Given the description of an element on the screen output the (x, y) to click on. 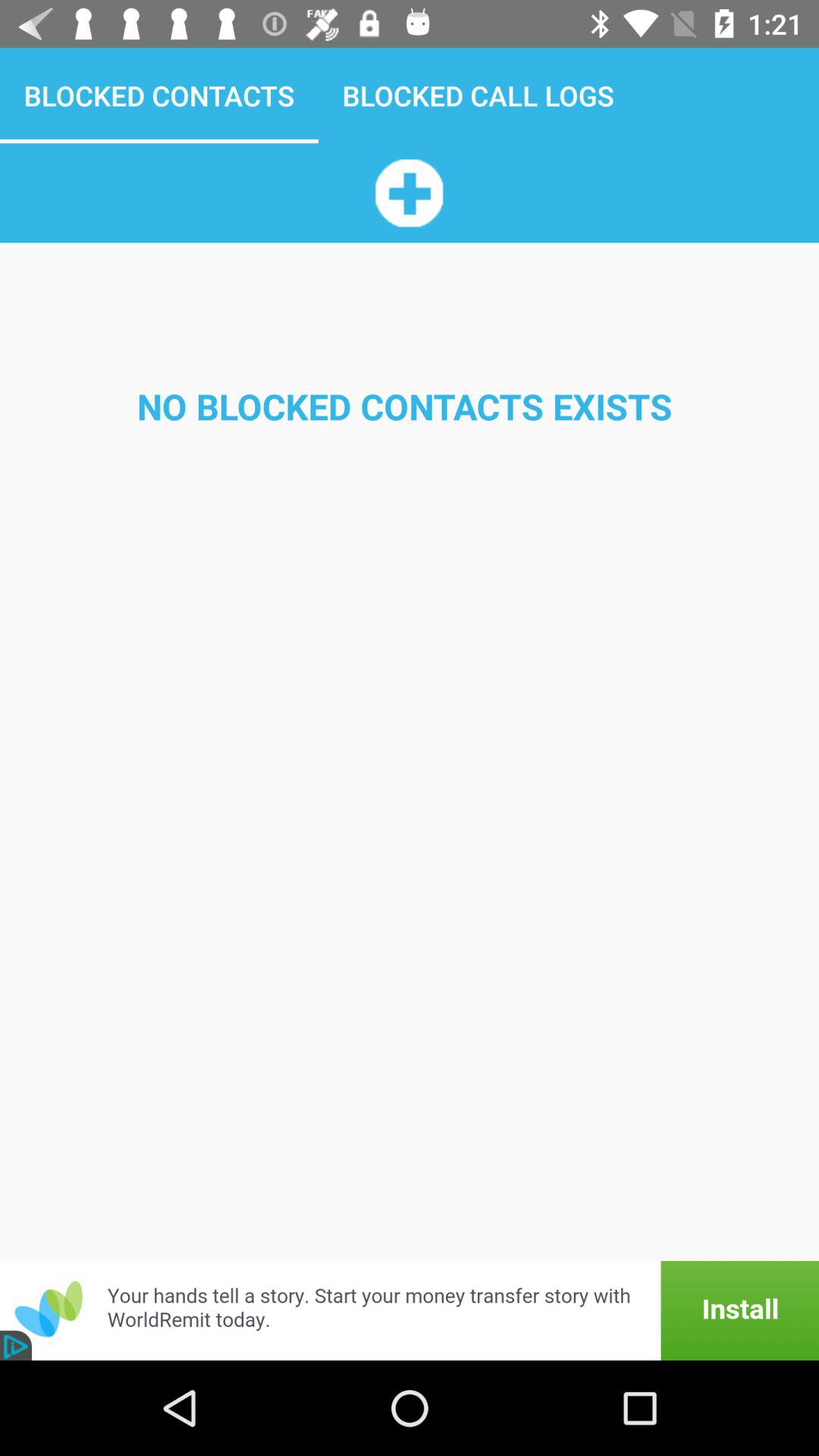
link to an advertisement site (409, 1310)
